Given the description of an element on the screen output the (x, y) to click on. 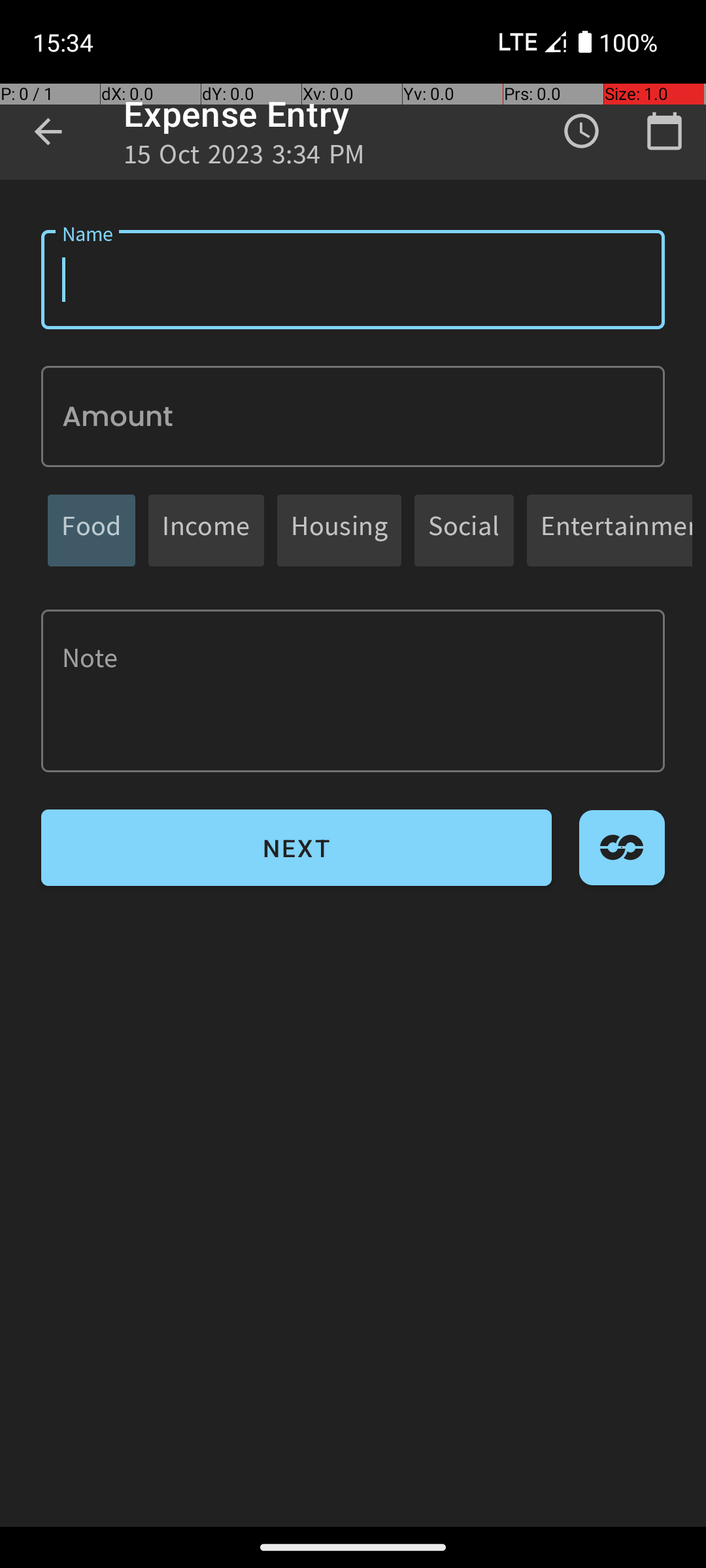
NEXT Element type: android.widget.Button (296, 847)
